Given the description of an element on the screen output the (x, y) to click on. 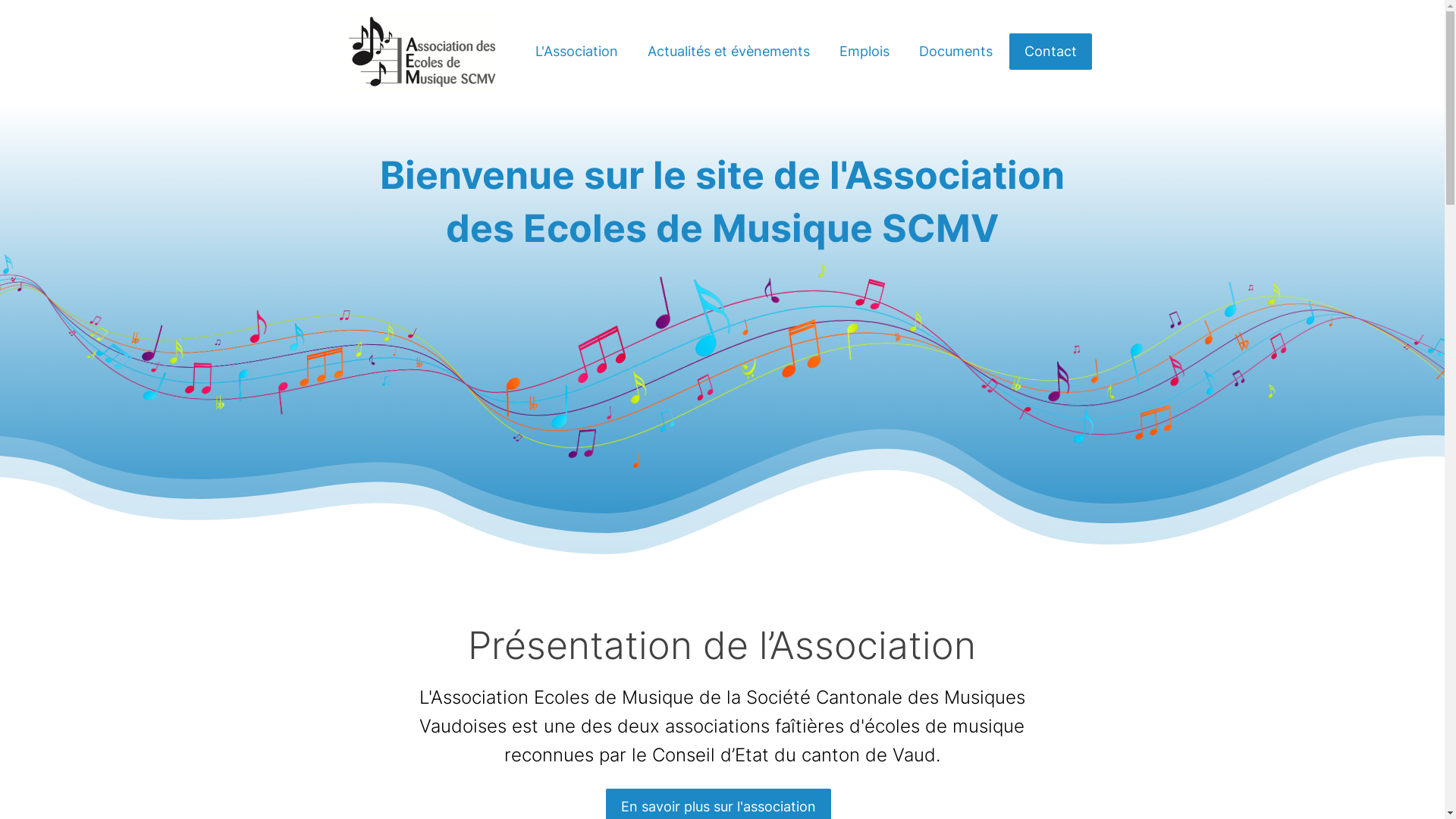
L'Association Element type: text (575, 51)
aem-scmv.ch Element type: text (421, 50)
Documents Element type: text (954, 51)
Contact Element type: text (1049, 51)
Emplois Element type: text (864, 51)
